Given the description of an element on the screen output the (x, y) to click on. 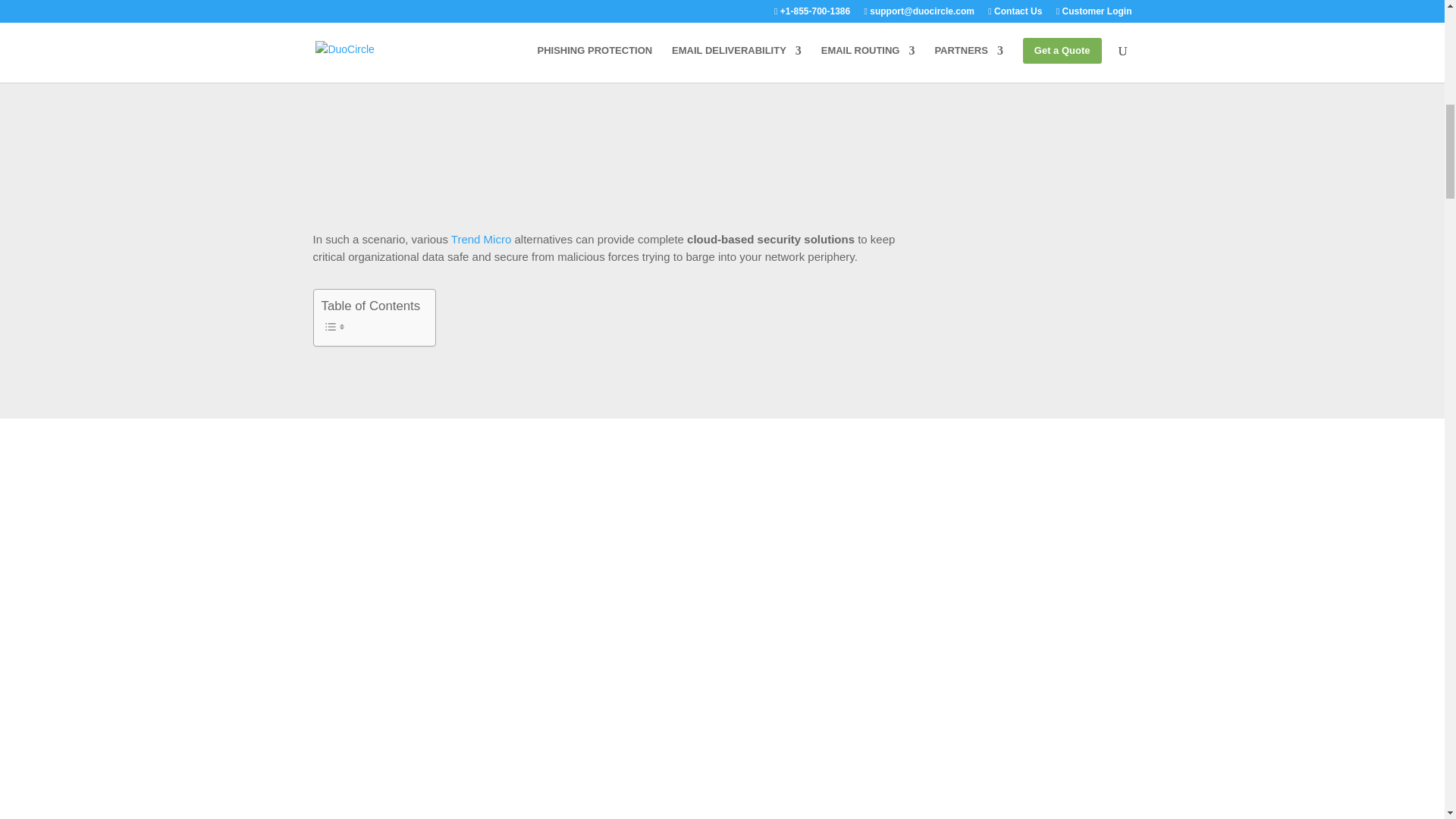
Trend Micro (481, 238)
